Given the description of an element on the screen output the (x, y) to click on. 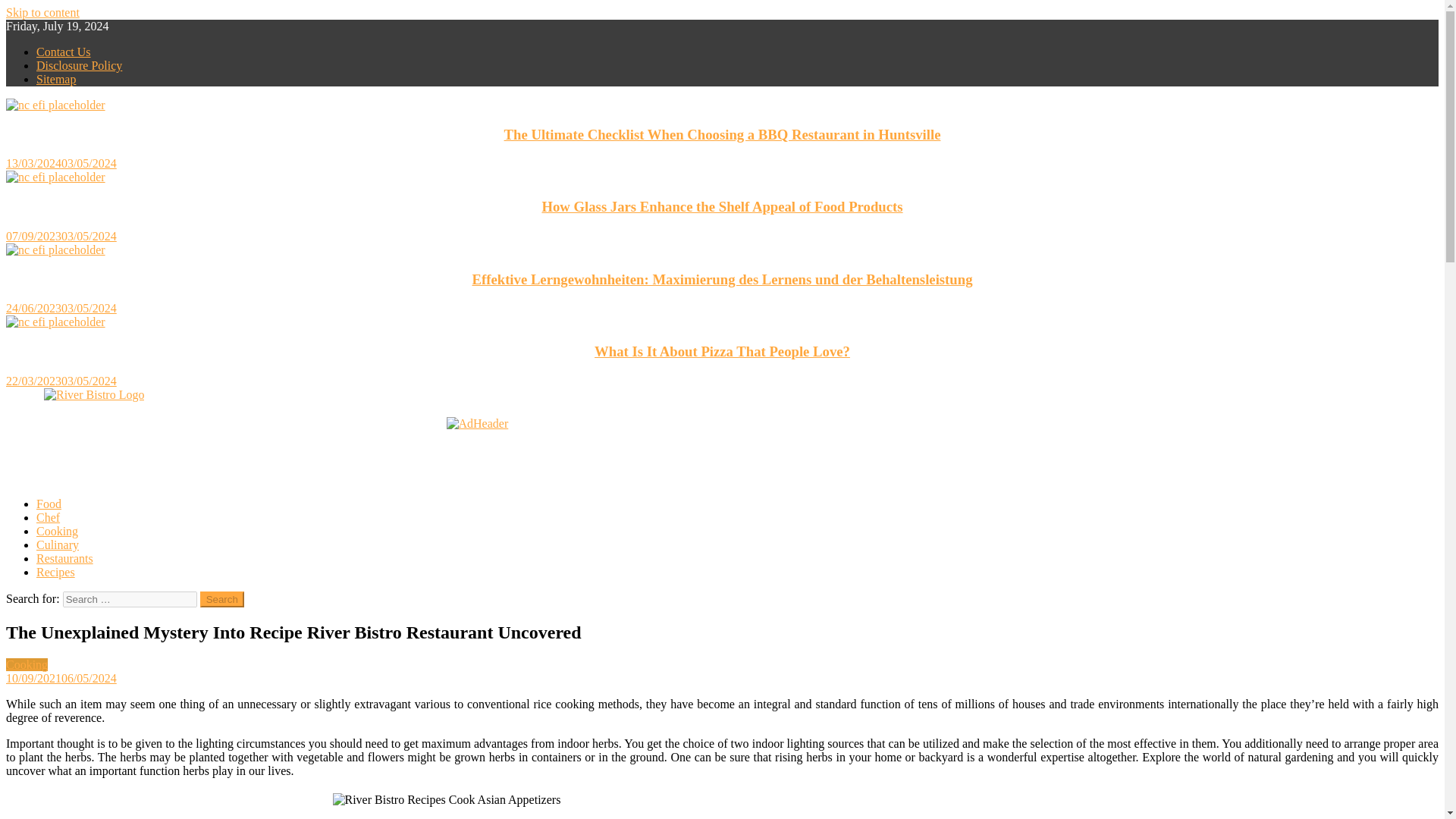
Cooking (26, 664)
Chef (47, 517)
Skip to content (42, 11)
Culinary (57, 544)
What Is It About Pizza That People Love? (722, 351)
Search (222, 599)
Recipes (55, 571)
Cooking (57, 530)
Food (48, 503)
Restaurants (64, 558)
Contact Us (63, 51)
River Bistro (35, 420)
